Given the description of an element on the screen output the (x, y) to click on. 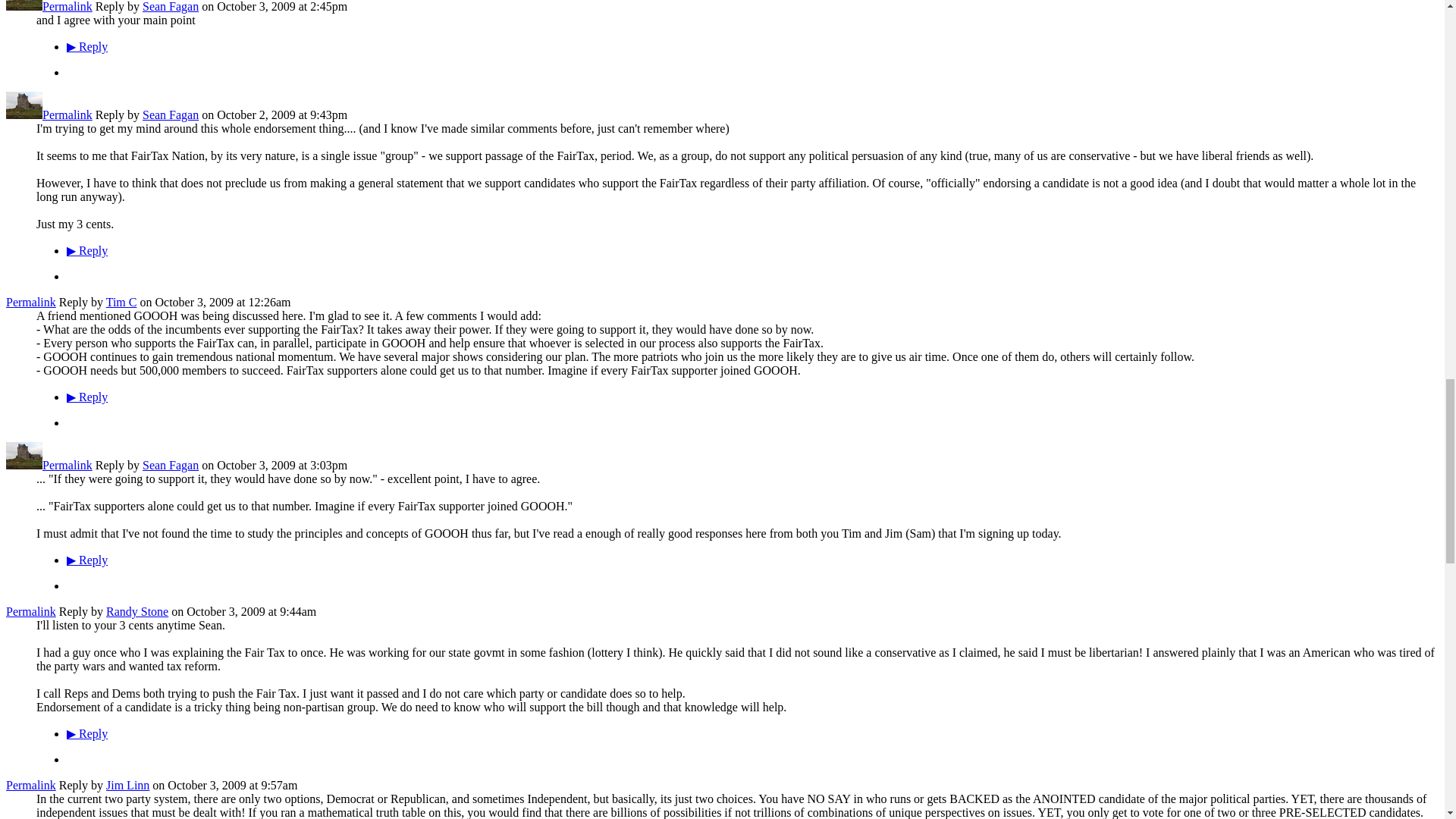
Permalink to this Reply (67, 464)
Permalink to this Reply (67, 114)
Permalink to this Reply (30, 611)
Sean Fagan (23, 114)
Sean Fagan (23, 6)
Permalink to this Reply (67, 6)
Sean Fagan (23, 464)
Permalink to this Reply (30, 301)
